Given the description of an element on the screen output the (x, y) to click on. 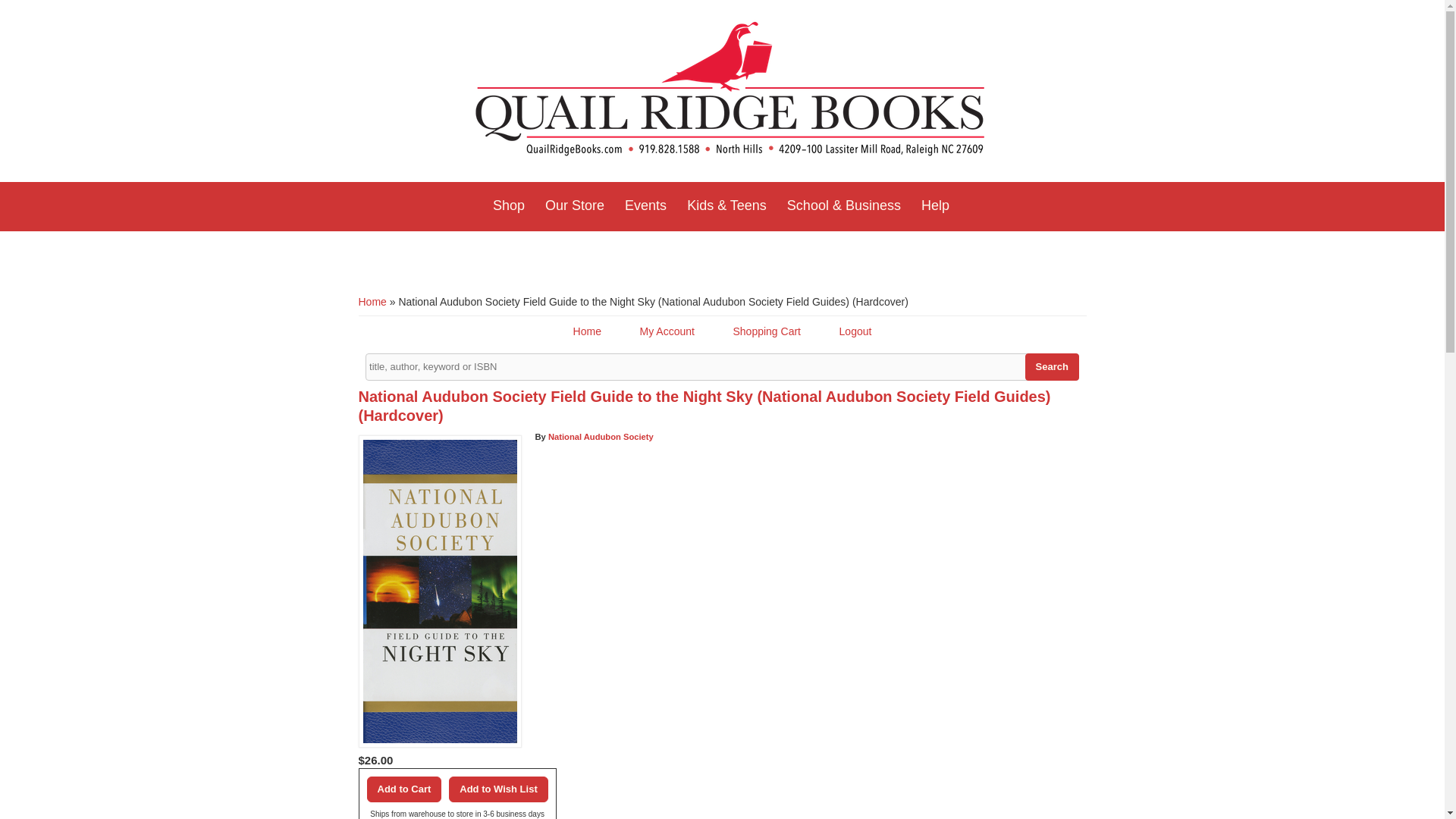
Add to Cart (404, 789)
Home (729, 90)
Search (1051, 366)
Help (935, 205)
Shop (508, 205)
Our Store (573, 205)
Events (645, 205)
